Given the description of an element on the screen output the (x, y) to click on. 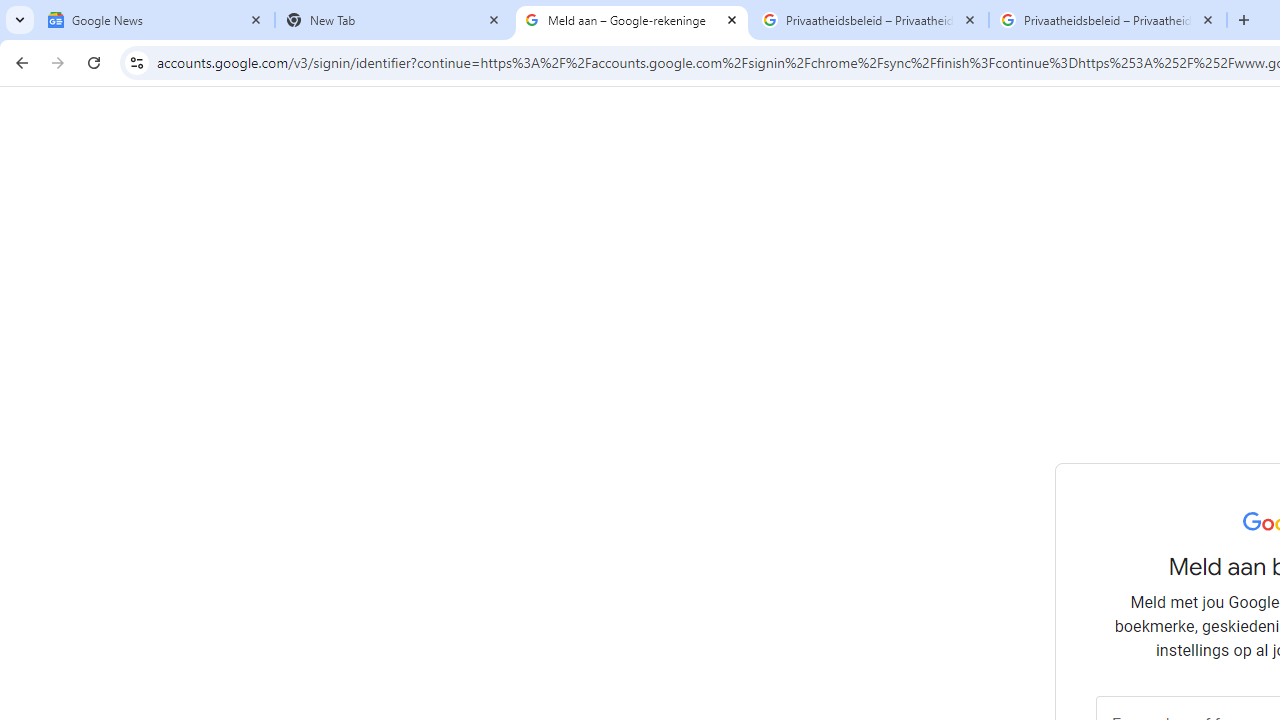
New Tab (394, 20)
Google News (156, 20)
